Given the description of an element on the screen output the (x, y) to click on. 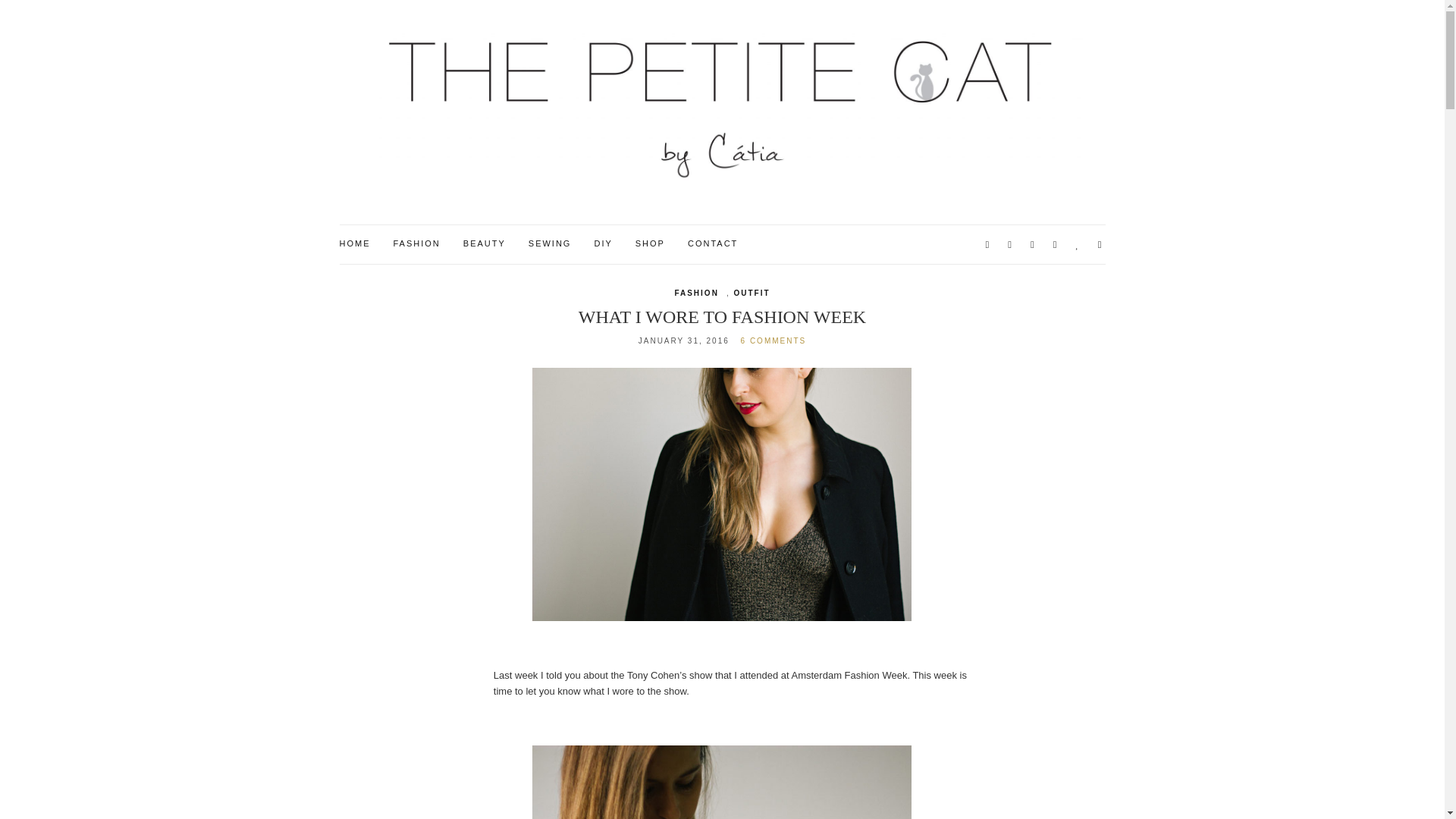
OUTFIT (751, 293)
FASHION (695, 293)
Home (355, 243)
HOME (355, 243)
6 COMMENTS (773, 340)
FASHION (416, 243)
BEAUTY (484, 243)
CONTACT (712, 243)
SEWING (550, 243)
DIY (602, 243)
SHOP (649, 243)
